Given the description of an element on the screen output the (x, y) to click on. 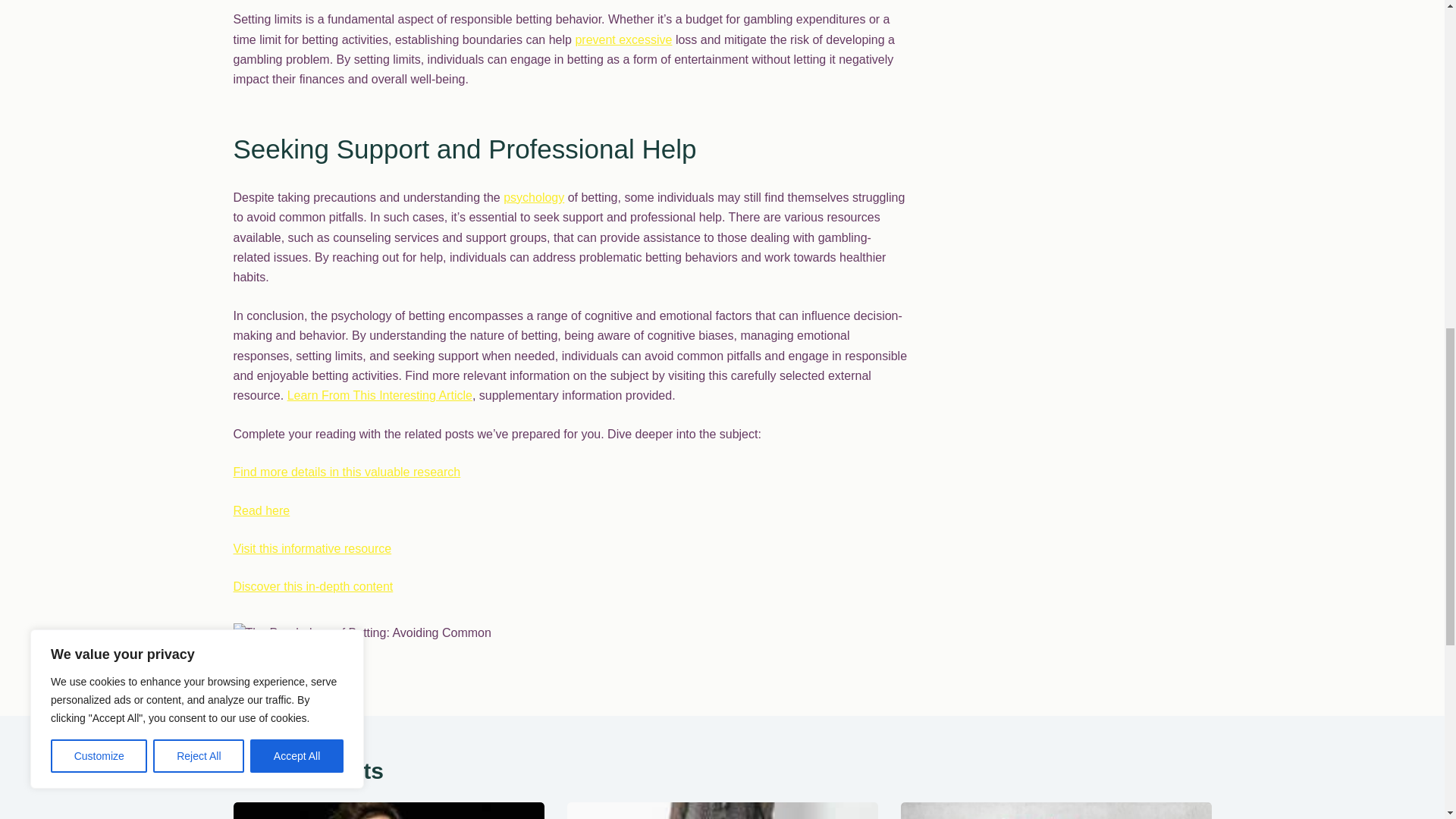
psychology (533, 196)
Visit this informative resource (311, 548)
Discover this in-depth content (312, 585)
prevent excessive (623, 39)
Find more details in this valuable research (346, 472)
Learn From This Interesting Article (378, 395)
Read here (260, 510)
